Given the description of an element on the screen output the (x, y) to click on. 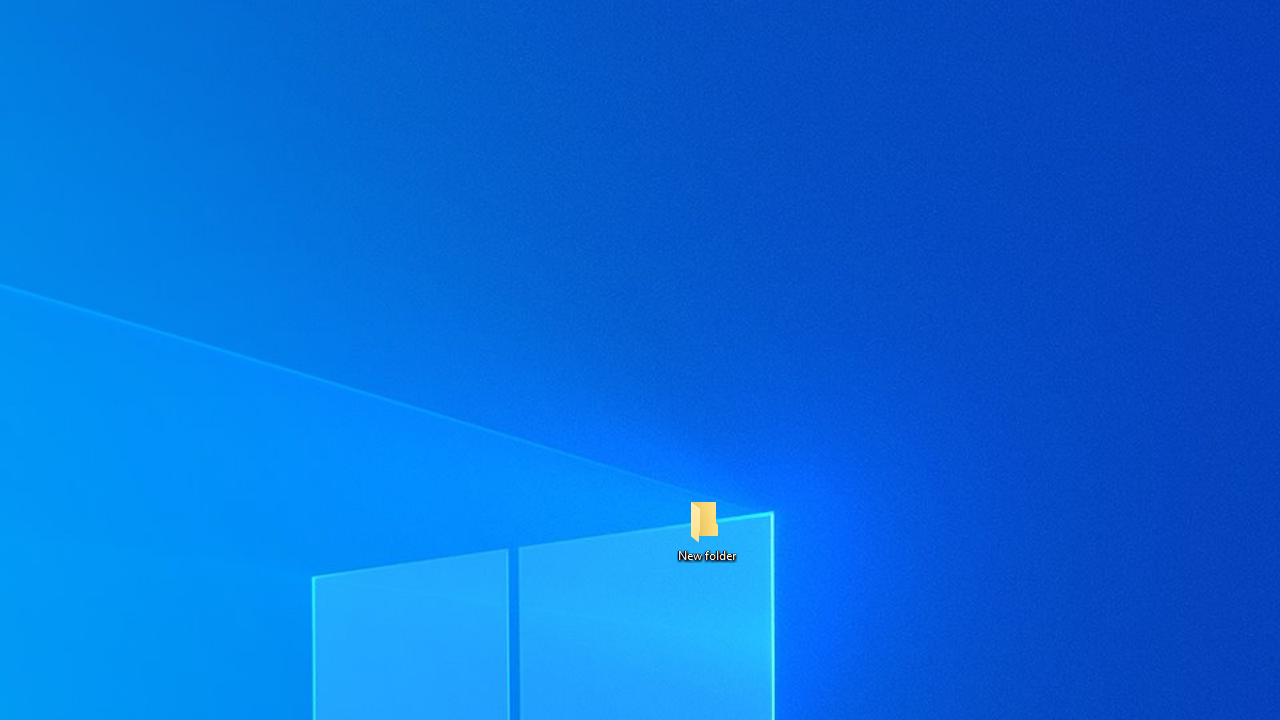
New folder (706, 530)
